Given the description of an element on the screen output the (x, y) to click on. 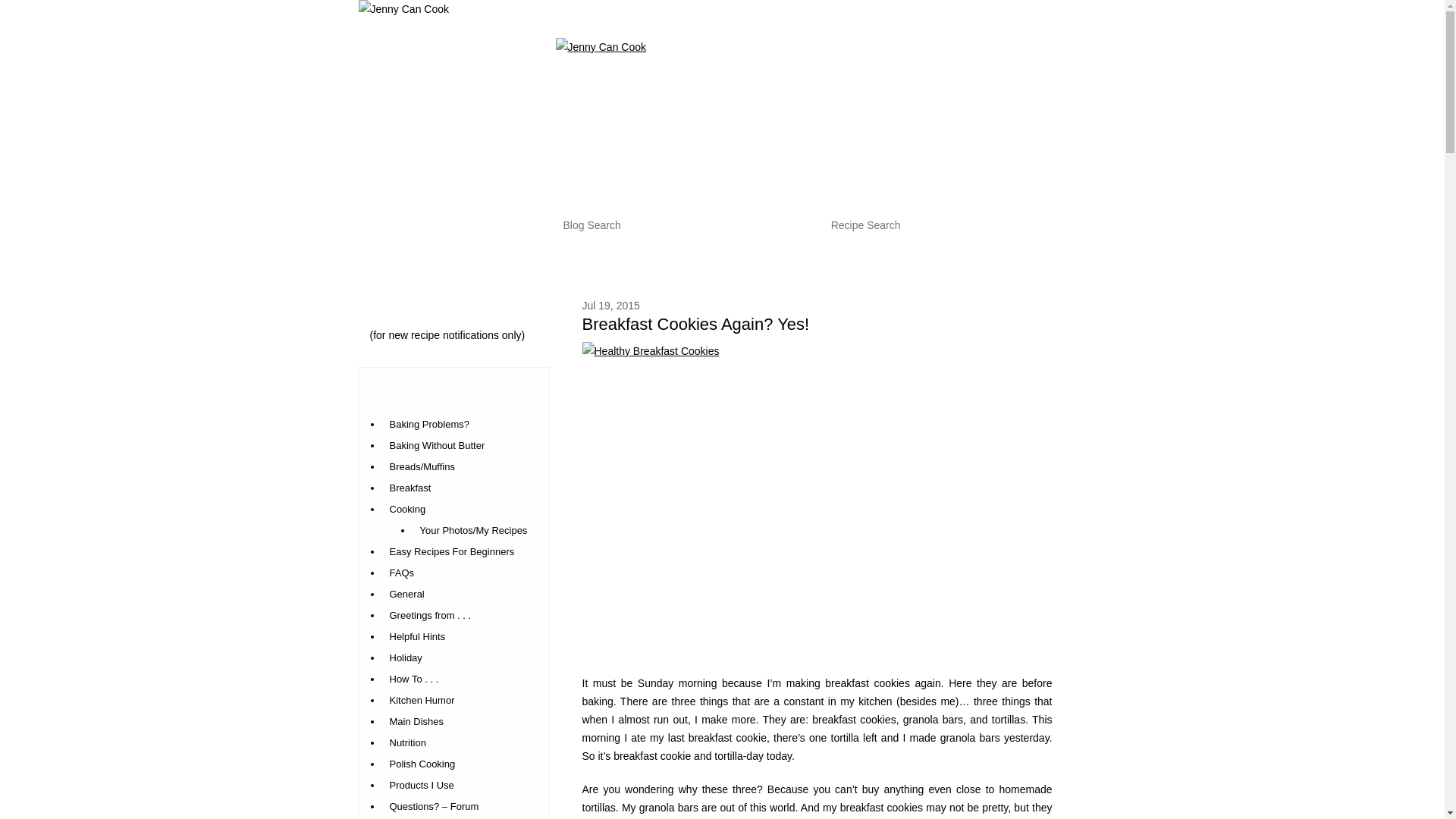
Search (1074, 223)
Search (1074, 223)
Search (795, 223)
Search (795, 223)
Breakfast Cookies Again? Yes! (695, 323)
pinterest (1396, 327)
youtube (1396, 294)
